Given the description of an element on the screen output the (x, y) to click on. 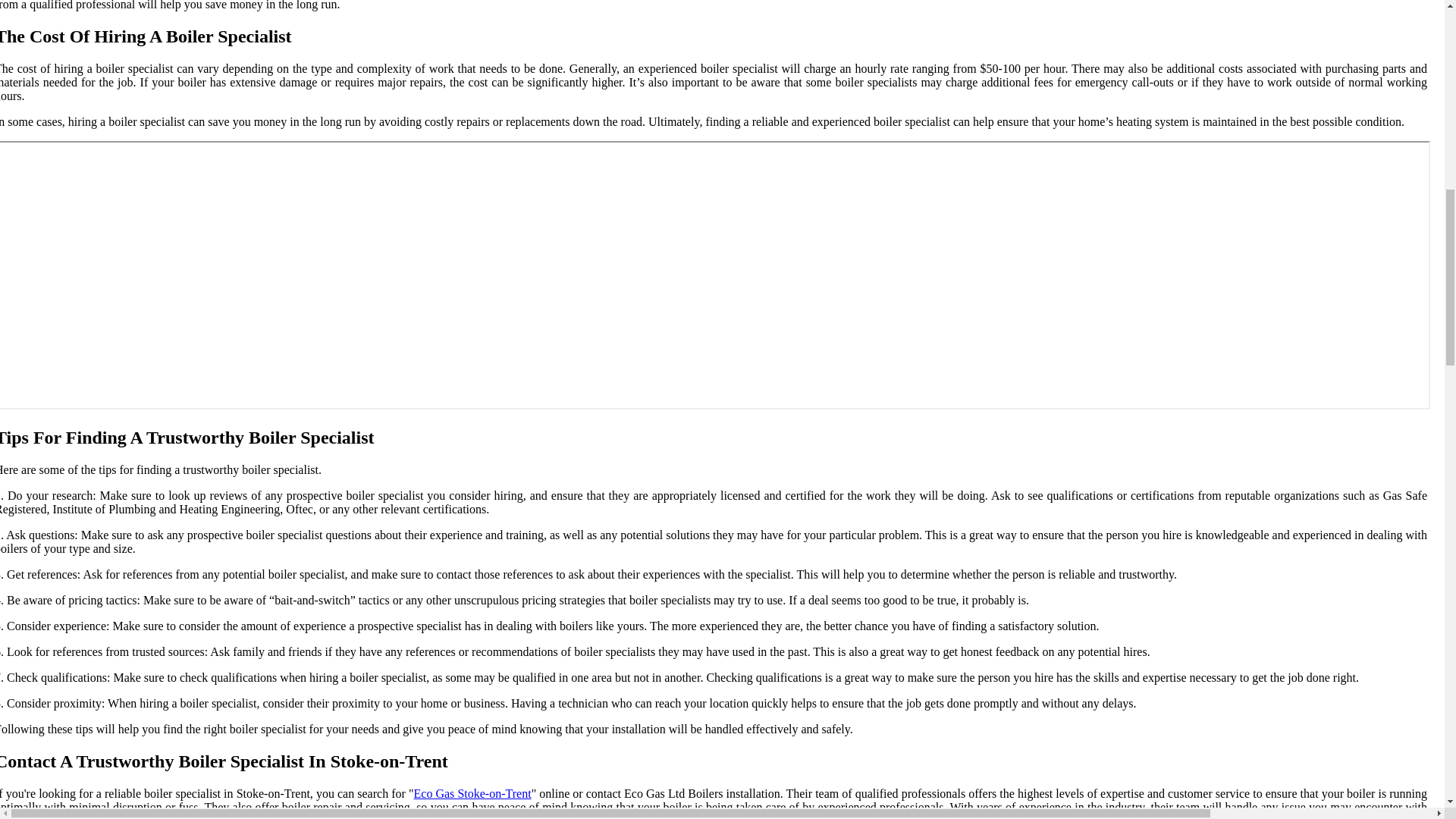
Eco Gas Stoke-on-Trent (472, 793)
